Given the description of an element on the screen output the (x, y) to click on. 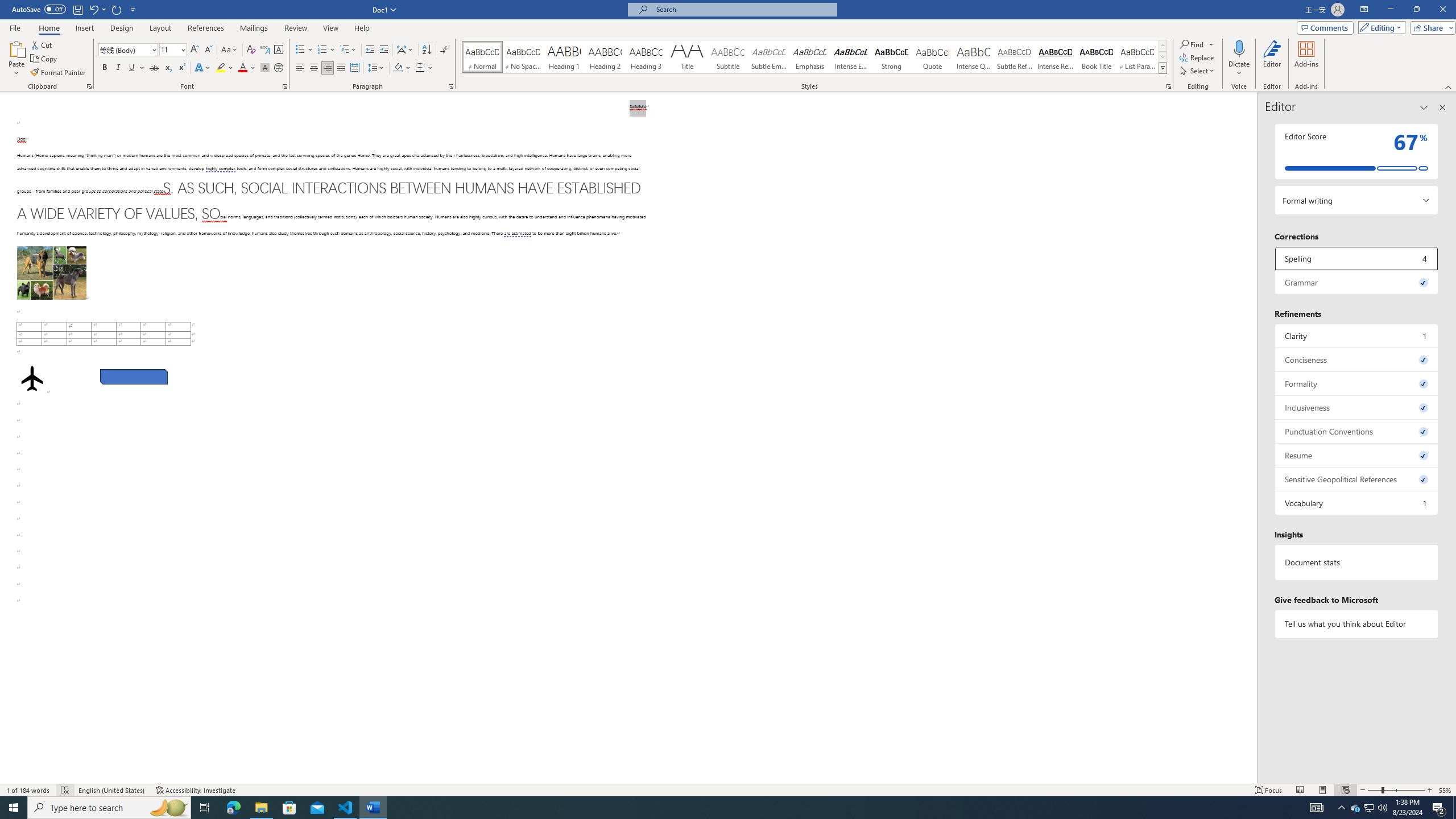
Vocabulary, 1 issue. Press space or enter to review items. (1356, 502)
Book Title (1095, 56)
Undo Paragraph Alignment (92, 9)
Conciseness, 0 issues. Press space or enter to review items. (1356, 359)
